Given the description of an element on the screen output the (x, y) to click on. 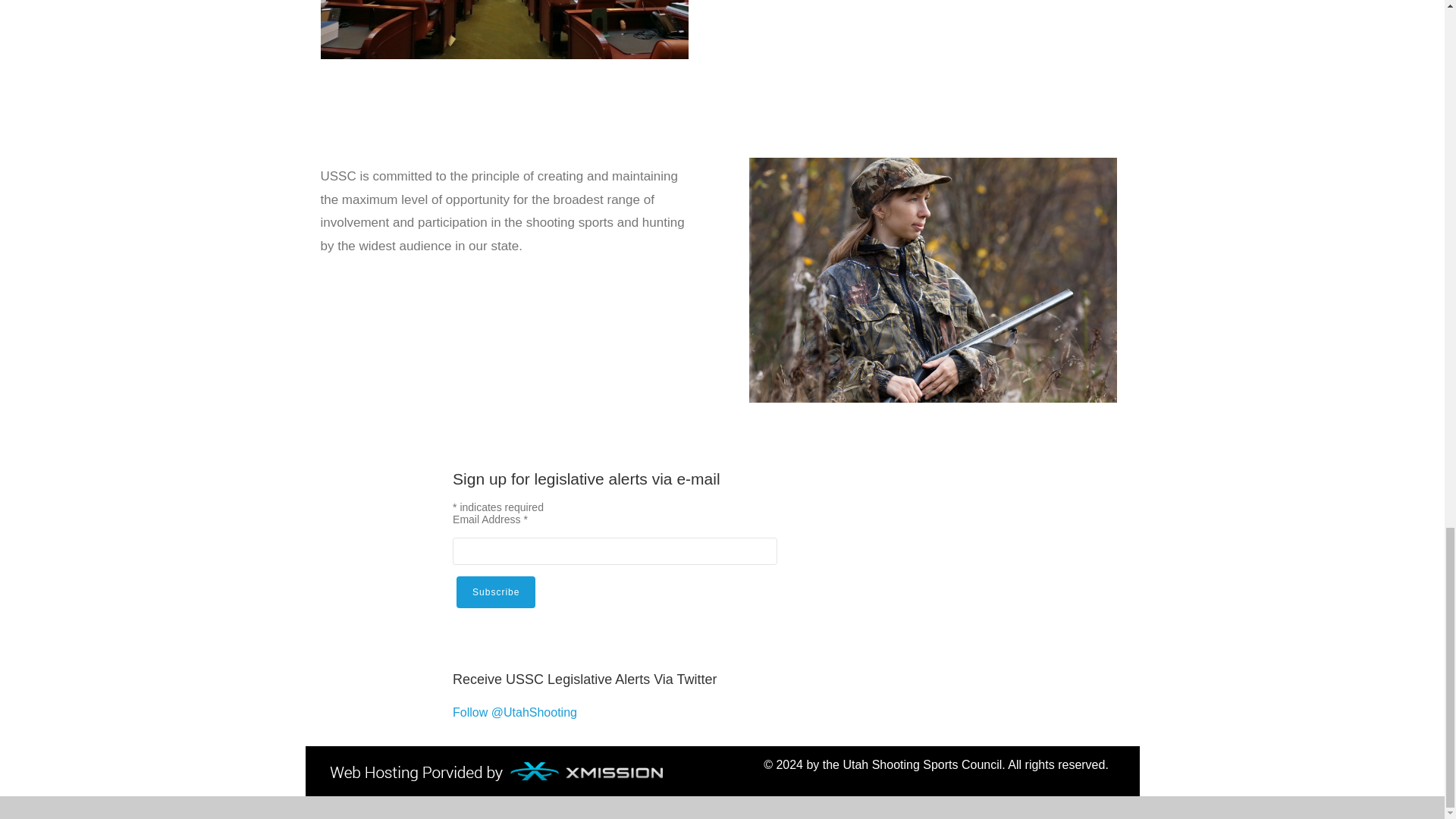
Subscribe (496, 592)
Subscribe (496, 592)
